Given the description of an element on the screen output the (x, y) to click on. 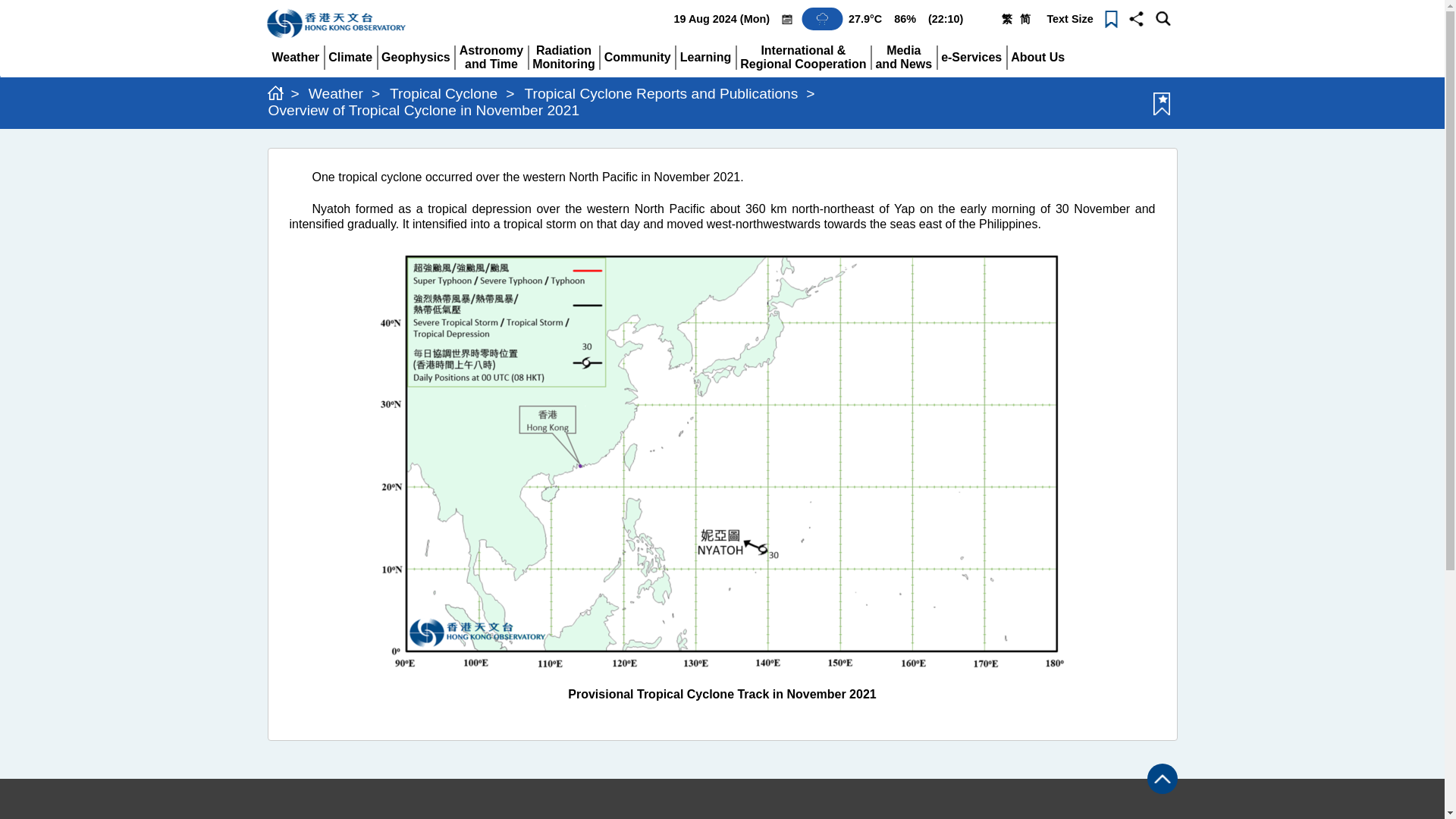
Hong Kong Observatory (339, 23)
HKO RH (904, 19)
Text Size (1070, 19)
HKO Temp (294, 56)
Light Rain (865, 19)
SEARCH (821, 18)
